Given the description of an element on the screen output the (x, y) to click on. 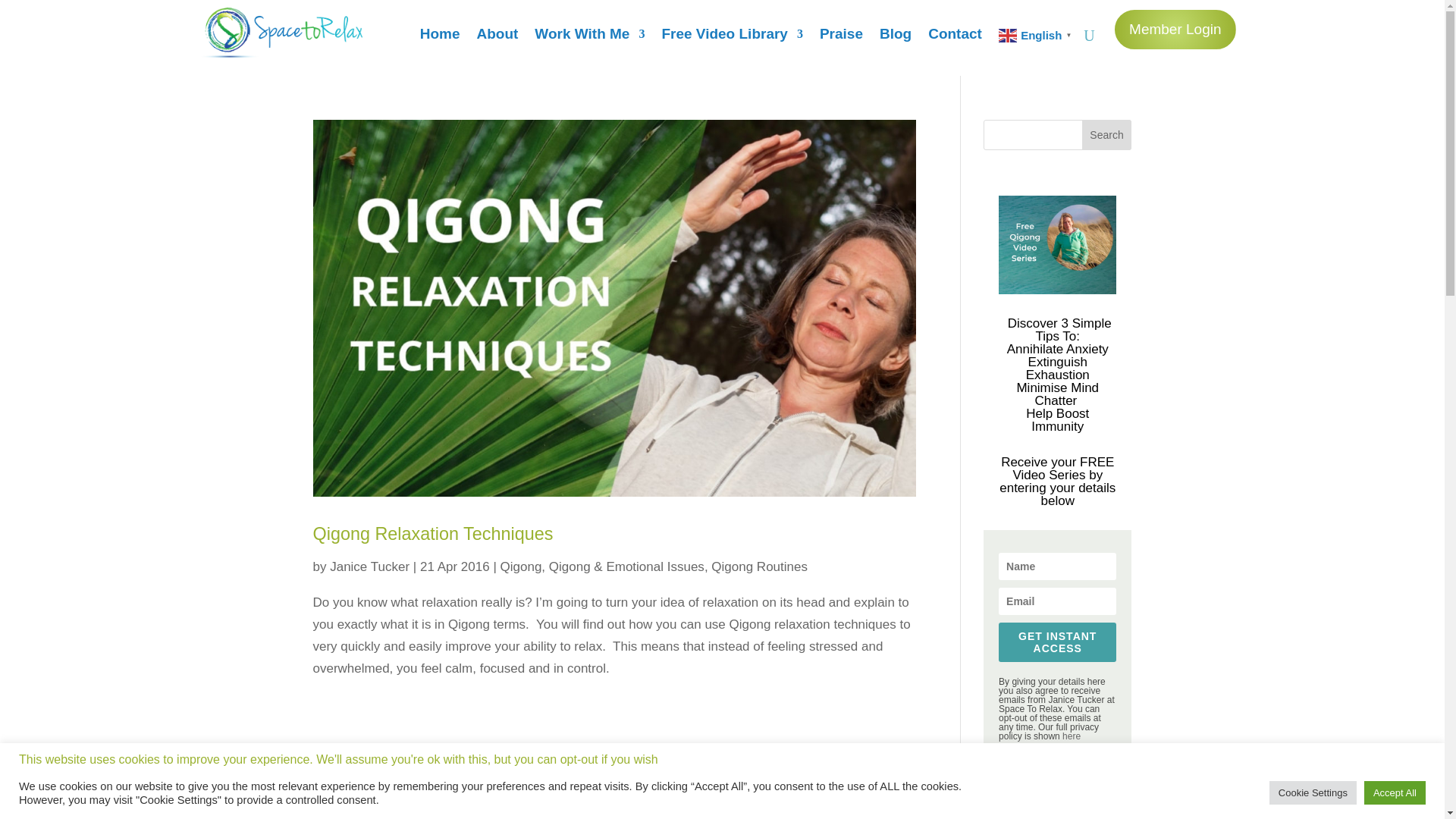
About (497, 38)
Posts by Janice Tucker (369, 566)
Blog (895, 38)
Contact (954, 38)
SpaceToRelax-logo (279, 32)
Free Video Library (732, 38)
Praise (841, 38)
Work With Me (589, 38)
Home (440, 38)
Search (1106, 134)
